Given the description of an element on the screen output the (x, y) to click on. 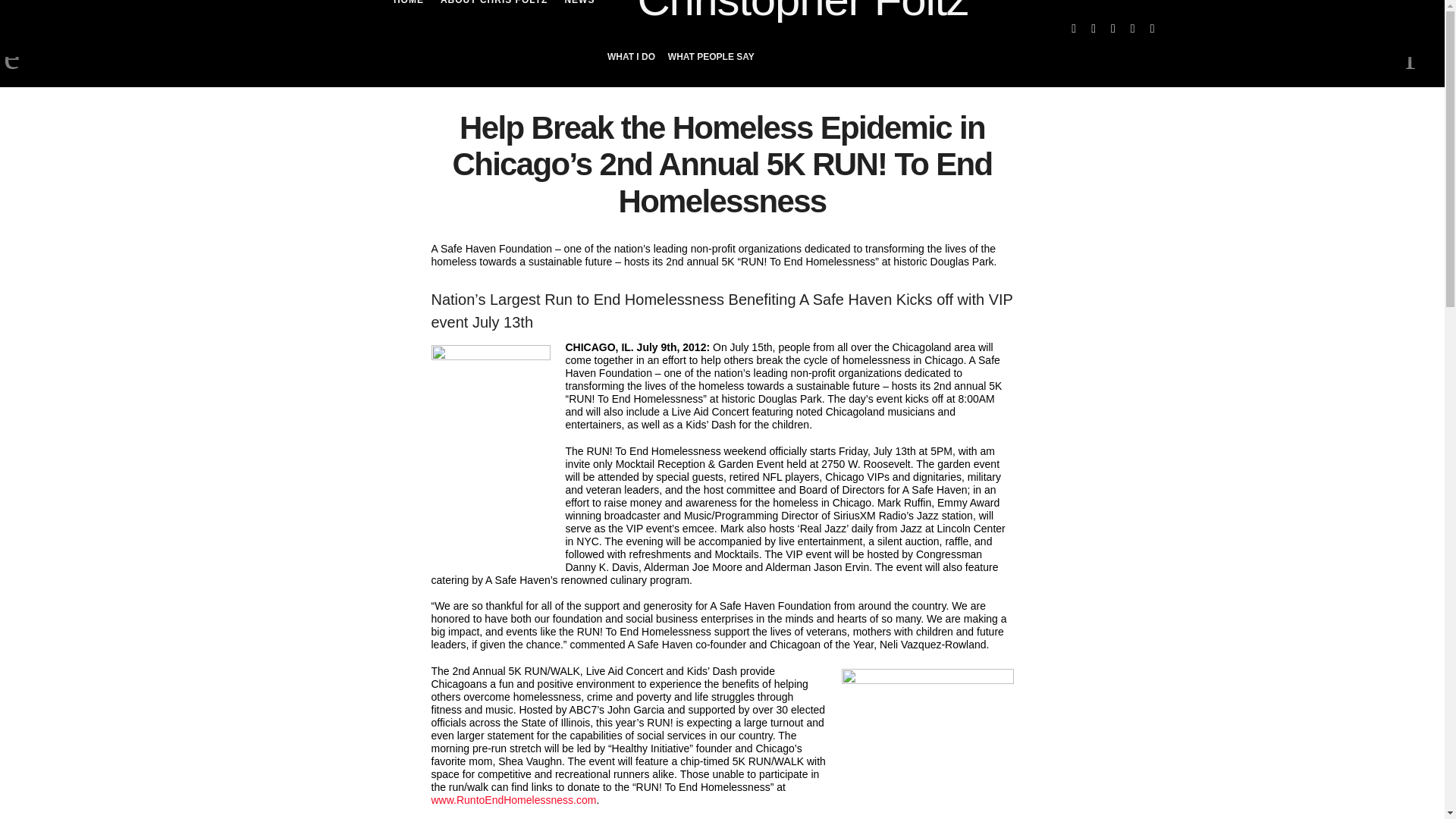
Run Swag (927, 744)
WHAT PEOPLE SAY (711, 56)
HOME (408, 13)
www.RuntoEndHomelessness.com (512, 799)
ABOUT CHRIS FOLTZ (494, 13)
NEWS (579, 13)
